Given the description of an element on the screen output the (x, y) to click on. 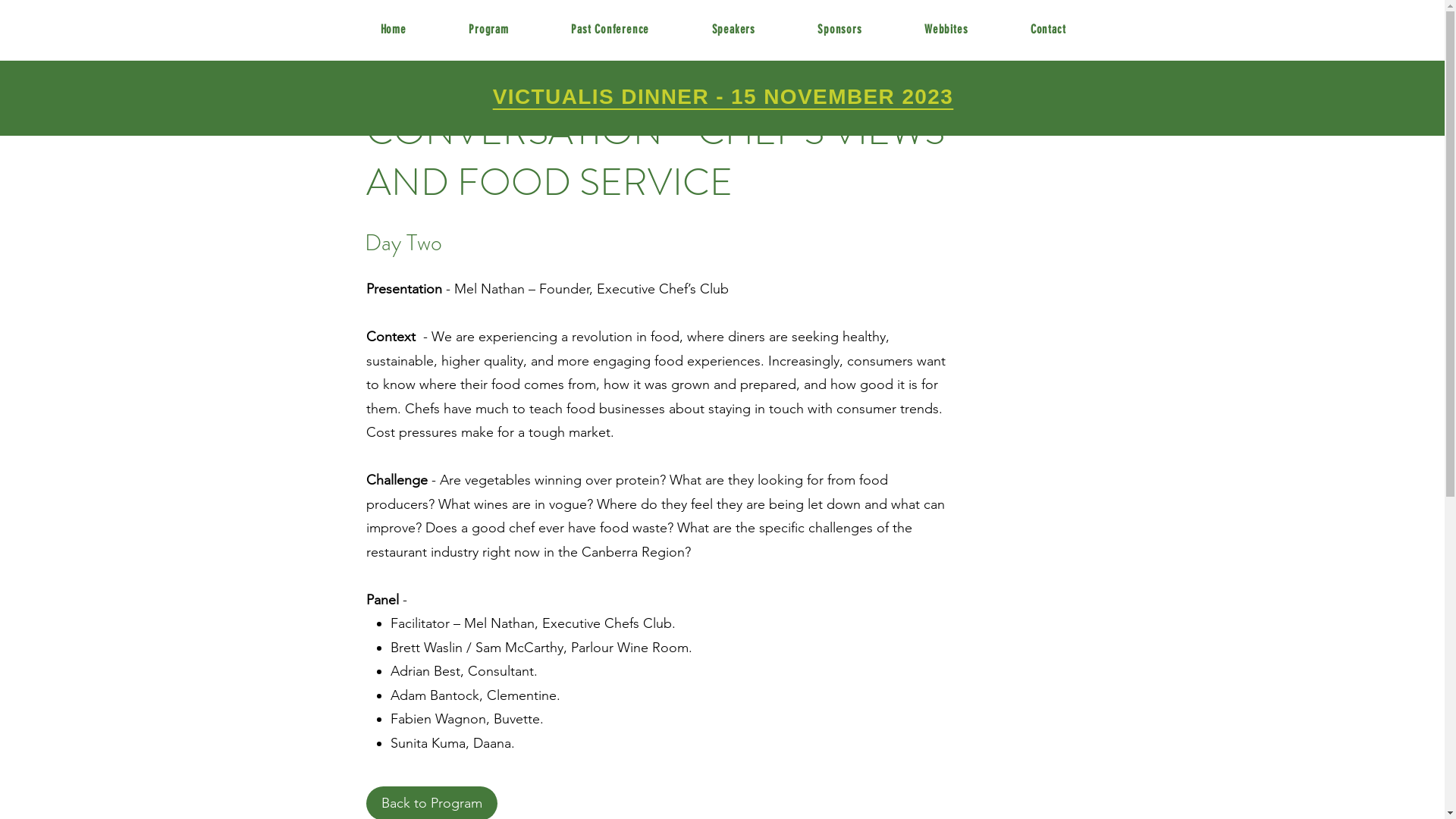
Contact Element type: text (1048, 29)
Sponsors Element type: text (839, 29)
Home Element type: text (392, 29)
VICTUALIS DINNER - 15 NOVEMBER 2023 Element type: text (722, 96)
Past Conference Element type: text (609, 29)
Speakers Element type: text (733, 29)
Program Element type: text (488, 29)
Webbites Element type: text (946, 29)
